Given the description of an element on the screen output the (x, y) to click on. 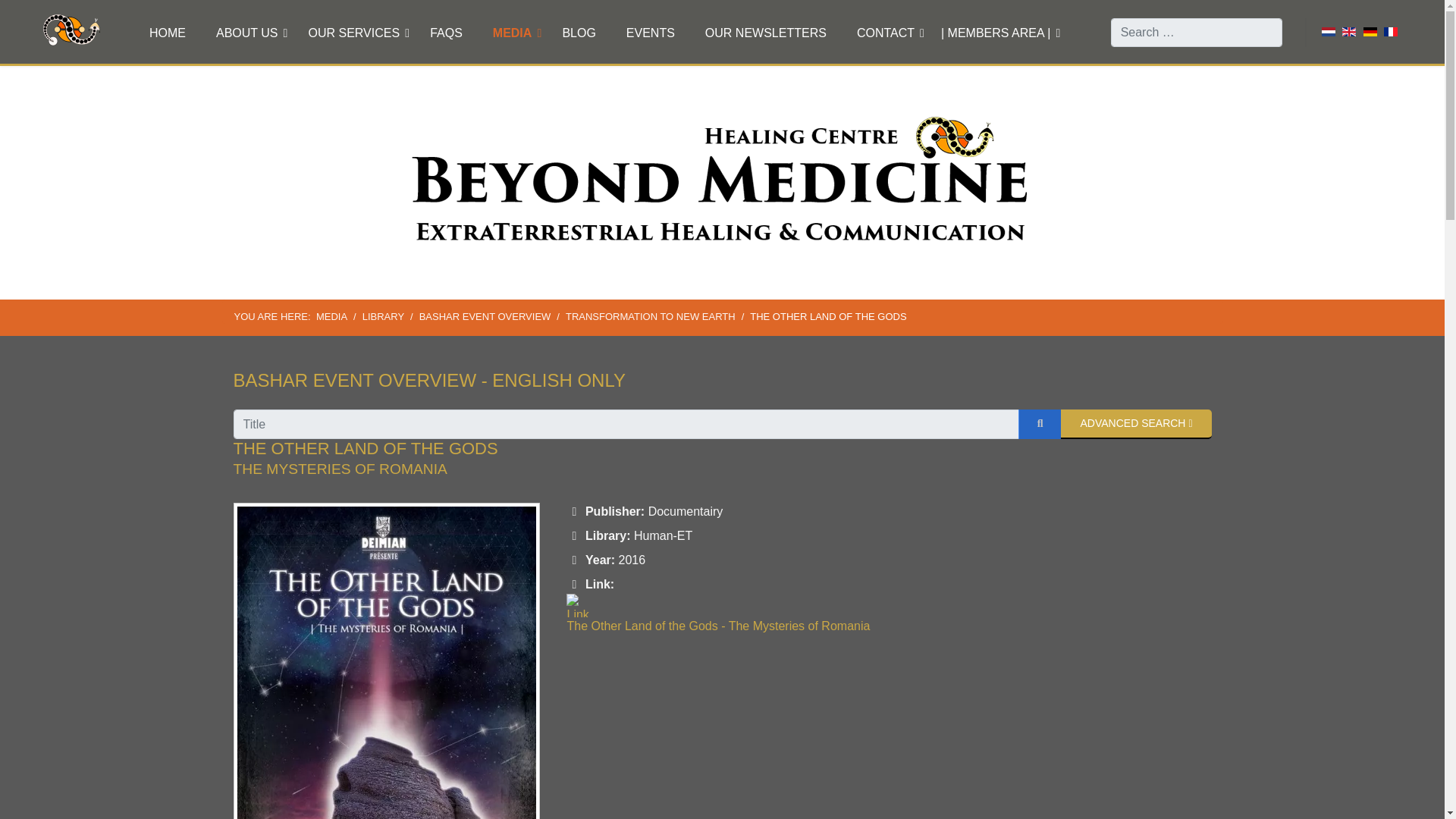
OUR NEWSLETTERS (765, 32)
EVENTS (650, 32)
HOME (166, 32)
FAQS (445, 32)
BLOG (578, 32)
MEDIA (512, 32)
OUR SERVICES (353, 32)
ABOUT US (247, 32)
CONTACT (885, 32)
